Given the description of an element on the screen output the (x, y) to click on. 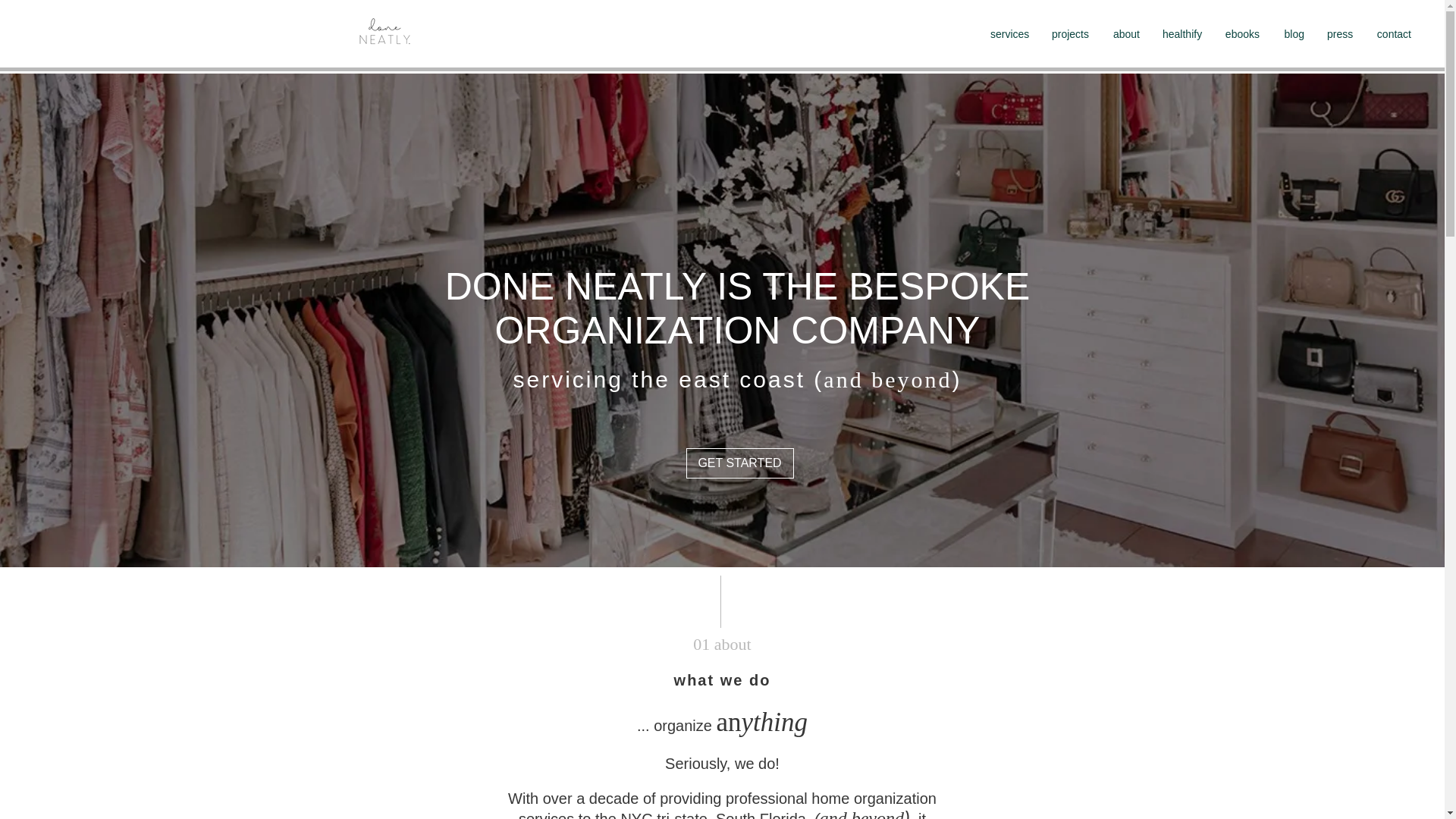
about (1125, 34)
GET STARTED (739, 462)
press (1340, 34)
services (1008, 34)
blog (1293, 34)
projects (1069, 34)
ebooks (1241, 34)
contact (1393, 34)
healthify (1181, 34)
